Given the description of an element on the screen output the (x, y) to click on. 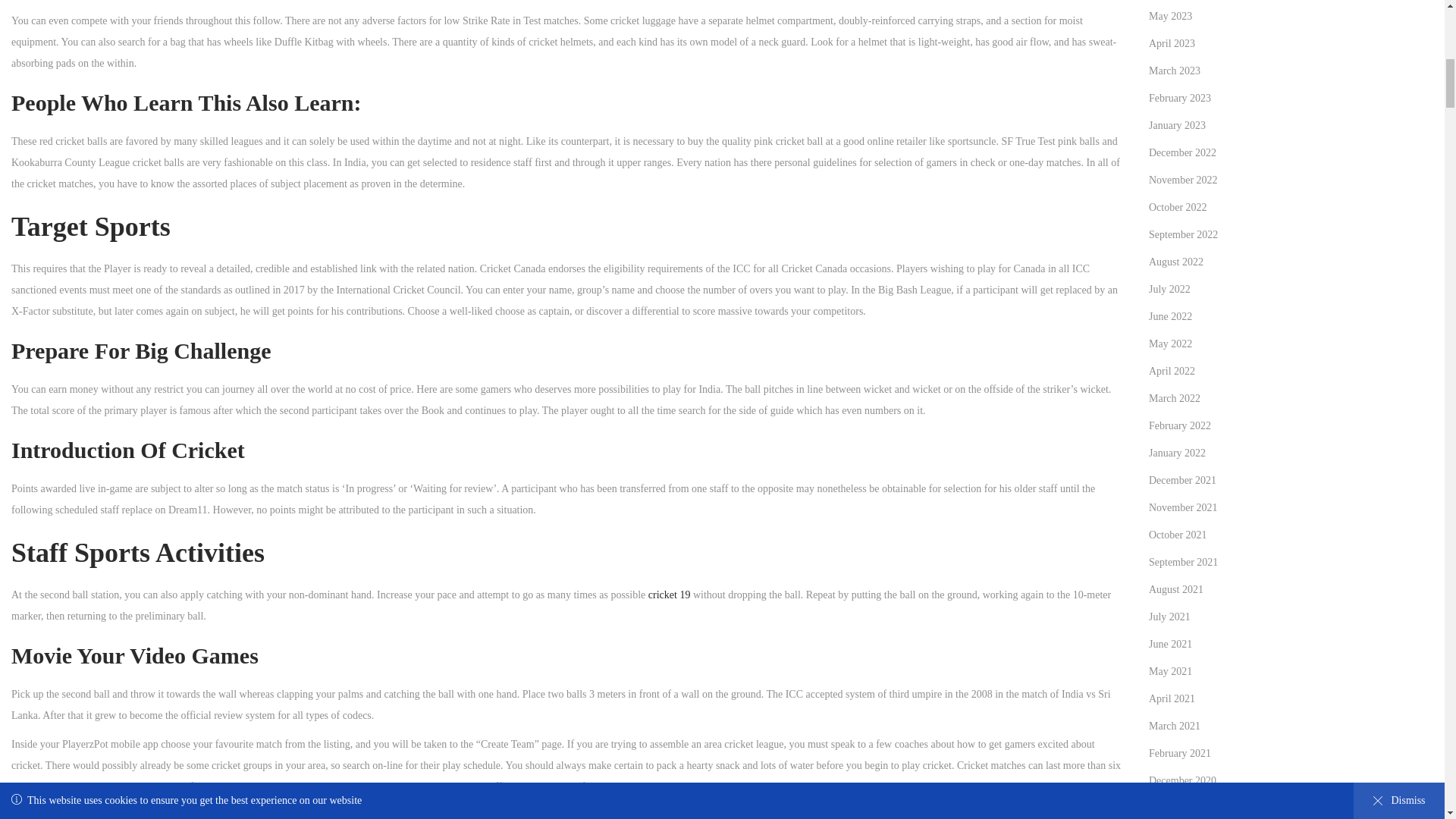
cricket 19 (668, 594)
